Given the description of an element on the screen output the (x, y) to click on. 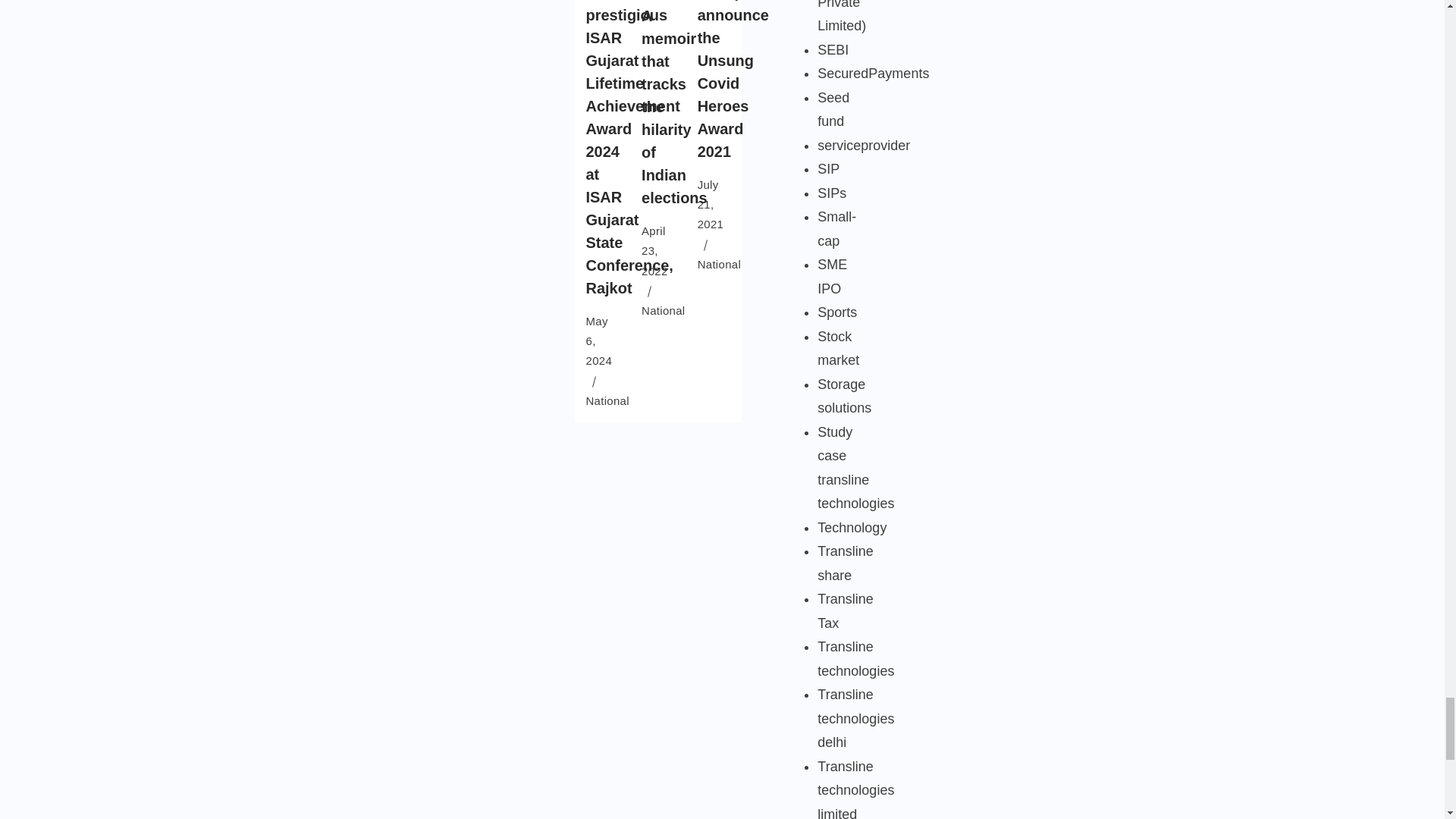
National (663, 309)
National (606, 400)
National (719, 264)
